Given the description of an element on the screen output the (x, y) to click on. 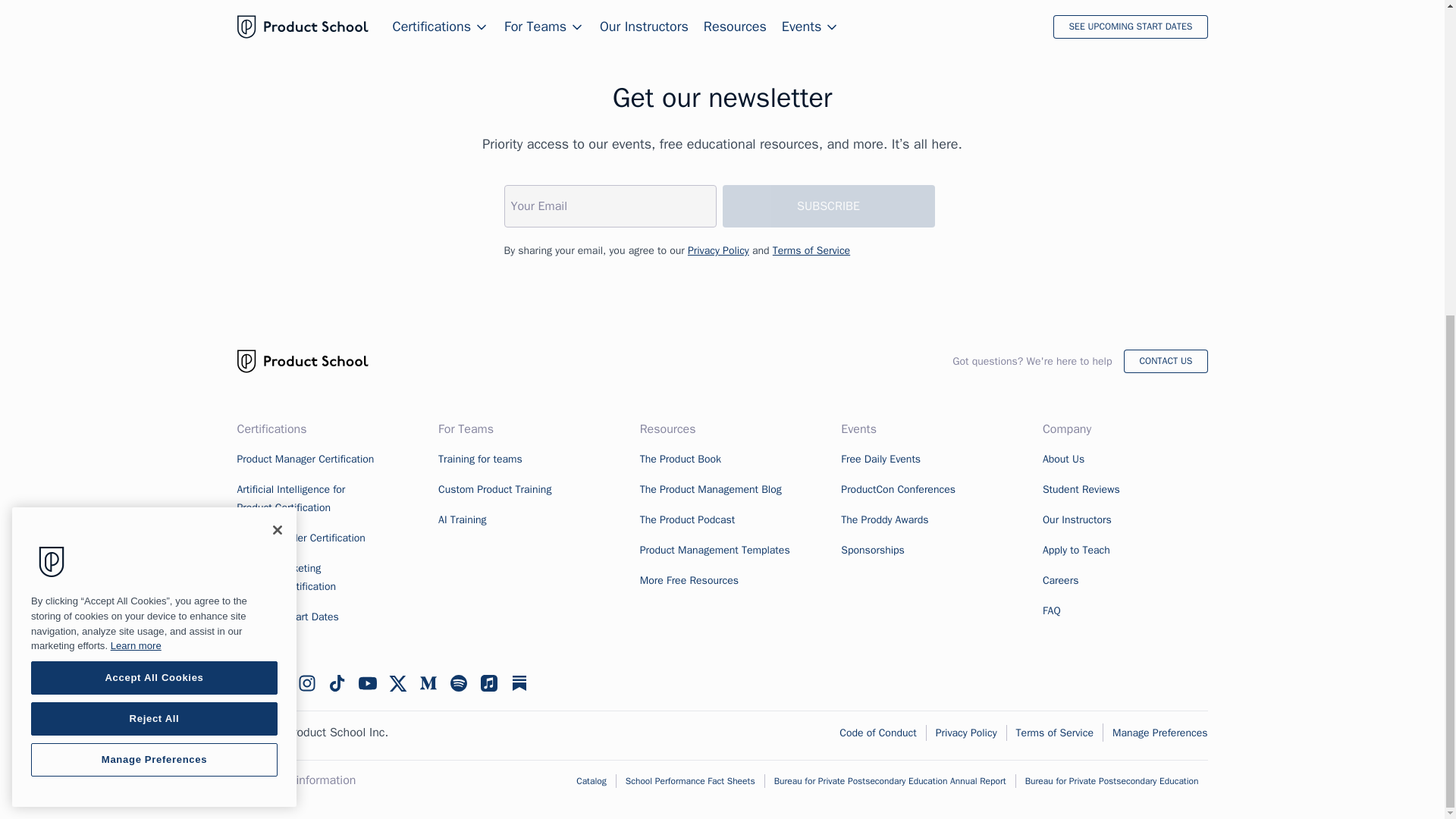
Product Manager Certification (304, 459)
Free Daily Events (880, 459)
Product Leader Certification (300, 537)
Artificial Intelligence for Product Certification (290, 498)
SUBSCRIBE (828, 206)
Upcoming Start Dates (286, 616)
Custom Product Training (494, 489)
Product School's Instagram page (306, 683)
The Proddy Awards (884, 519)
Product School's Substack (518, 683)
Terms of Service (811, 250)
Product School's TikTok (336, 683)
Product School's Linkedin page (275, 683)
Careers (1060, 580)
The Product Podcast (687, 519)
